Given the description of an element on the screen output the (x, y) to click on. 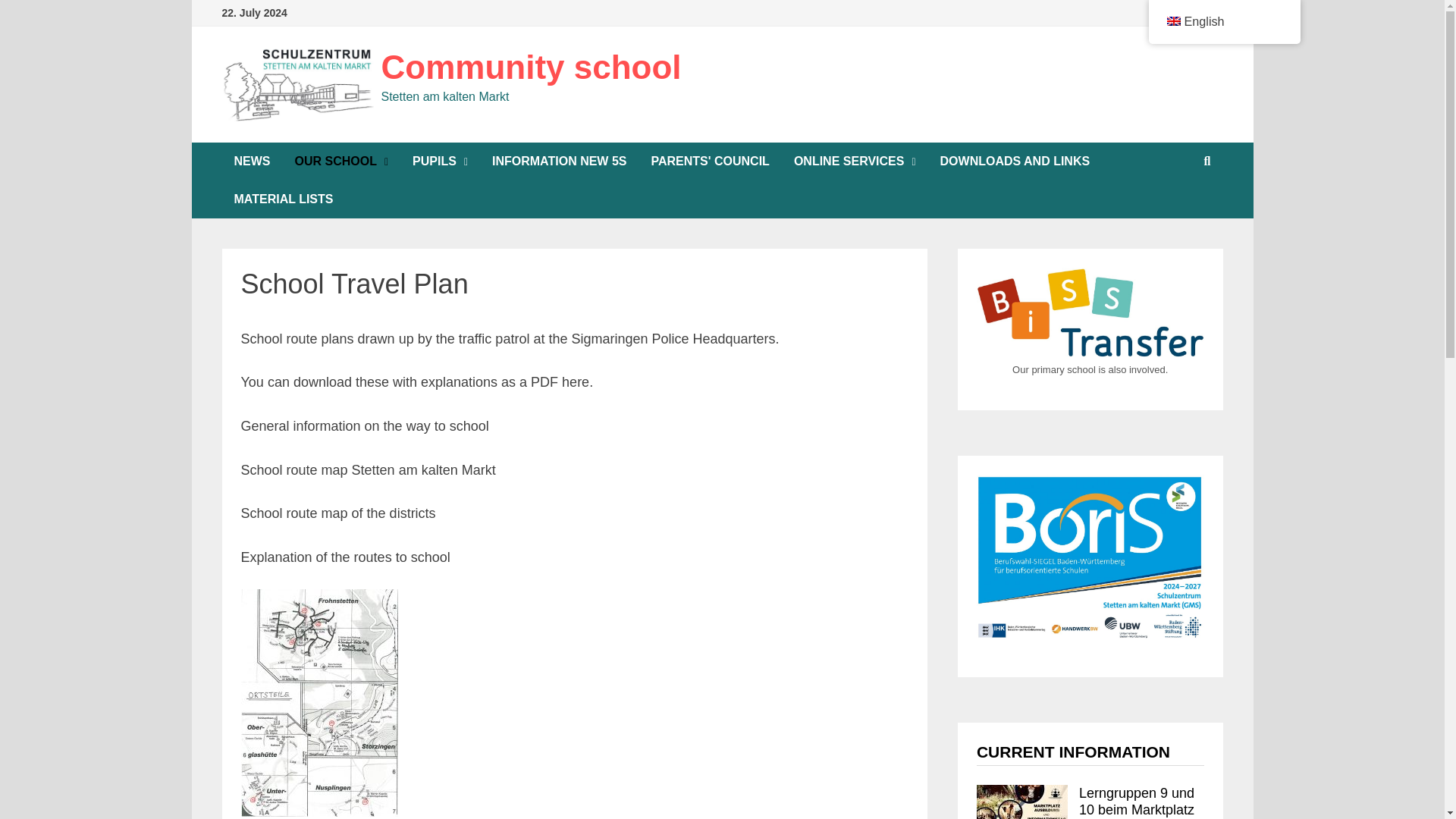
English (1172, 20)
INFORMATION NEW 5S (559, 161)
PARENTS' COUNCIL (709, 161)
PUPILS (440, 161)
OUR SCHOOL (341, 161)
ONLINE SERVICES (854, 161)
Community school (530, 66)
NEWS (251, 161)
